Given the description of an element on the screen output the (x, y) to click on. 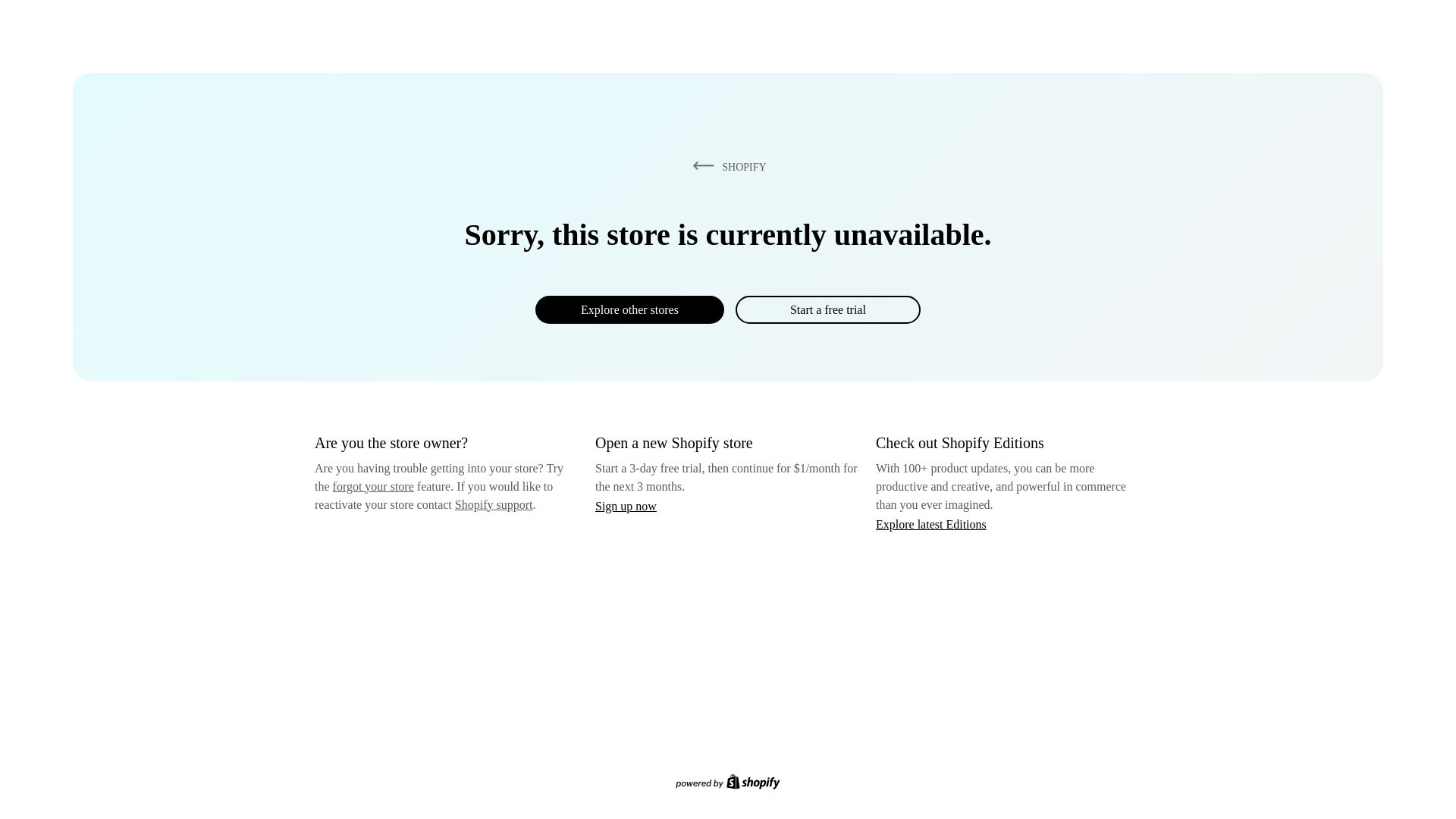
forgot your store (373, 486)
Sign up now (625, 505)
Start a free trial (827, 309)
Explore latest Editions (931, 523)
SHOPIFY (726, 166)
Explore other stores (629, 309)
Shopify support (493, 504)
